Given the description of an element on the screen output the (x, y) to click on. 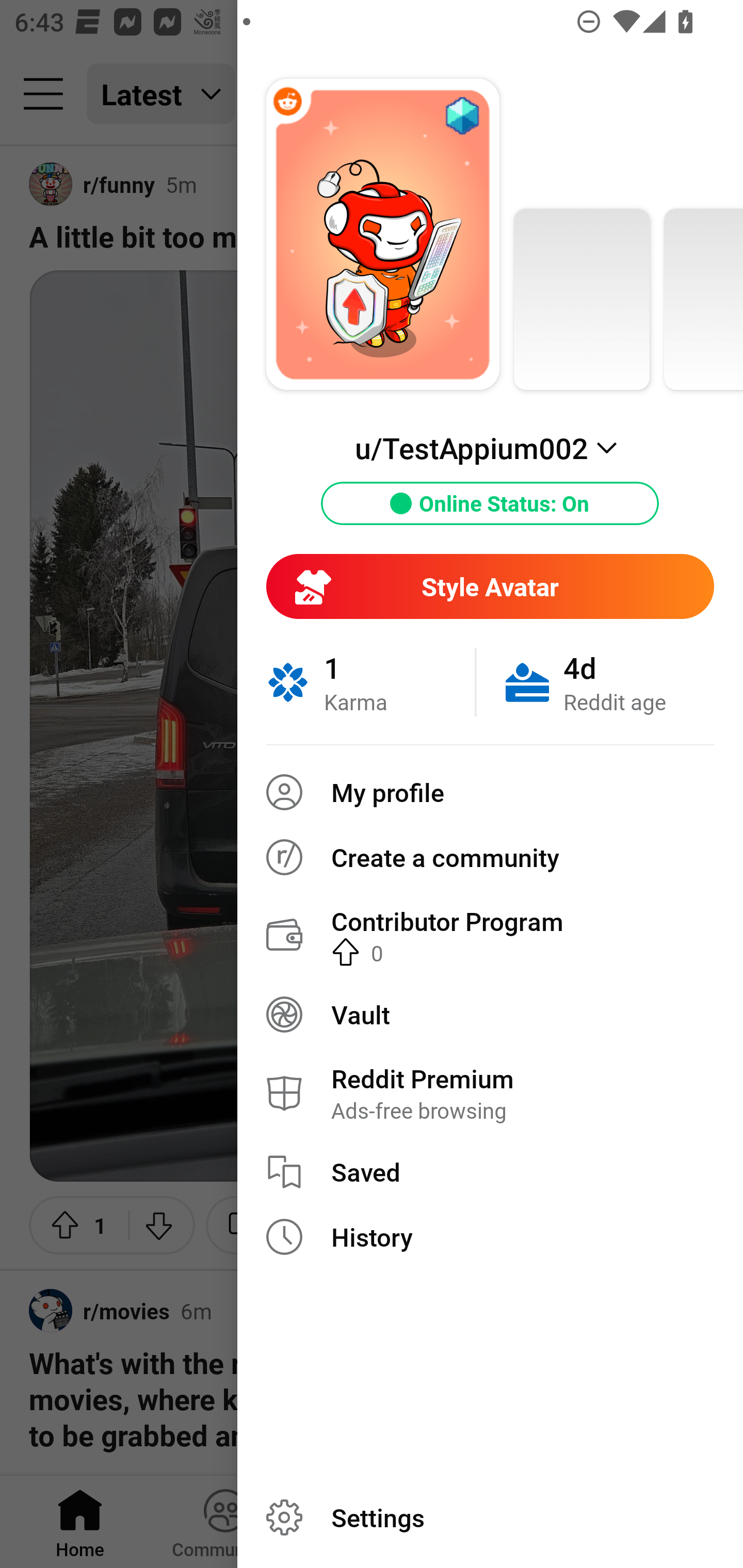
u/TestAppium002 (489, 447)
Online Status: On (489, 503)
Style Avatar (489, 586)
1 Karma 1 Karma (369, 681)
My profile (490, 792)
Create a community (490, 856)
Contributor Program Contributor Program 0 (490, 935)
Vault (490, 1014)
Saved (490, 1171)
History (490, 1237)
Settings (490, 1517)
